Given the description of an element on the screen output the (x, y) to click on. 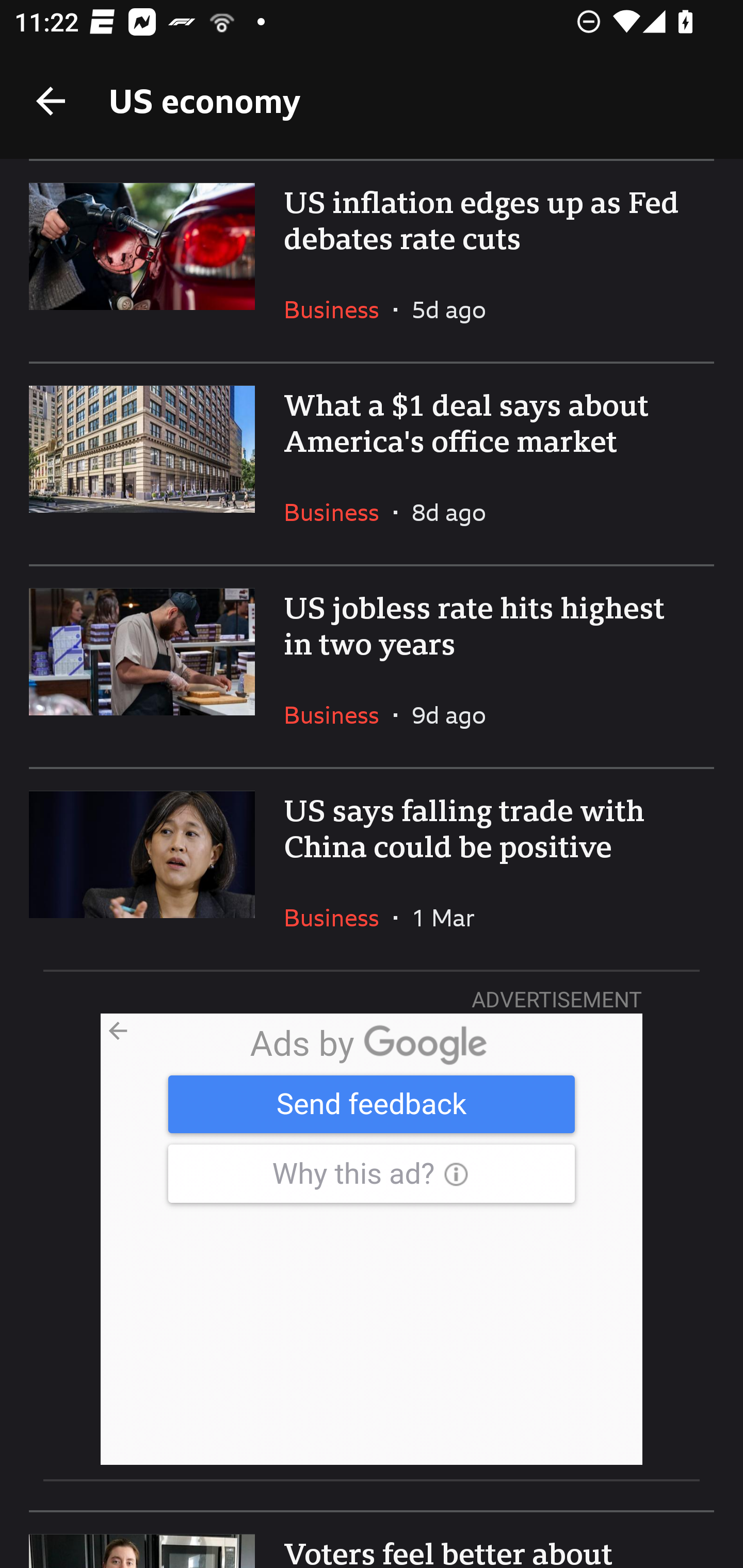
Back (50, 101)
Business In the section Business (338, 309)
Business In the section Business (338, 511)
Business In the section Business (338, 714)
Business In the section Business (338, 917)
Advertisement (371, 1239)
